Given the description of an element on the screen output the (x, y) to click on. 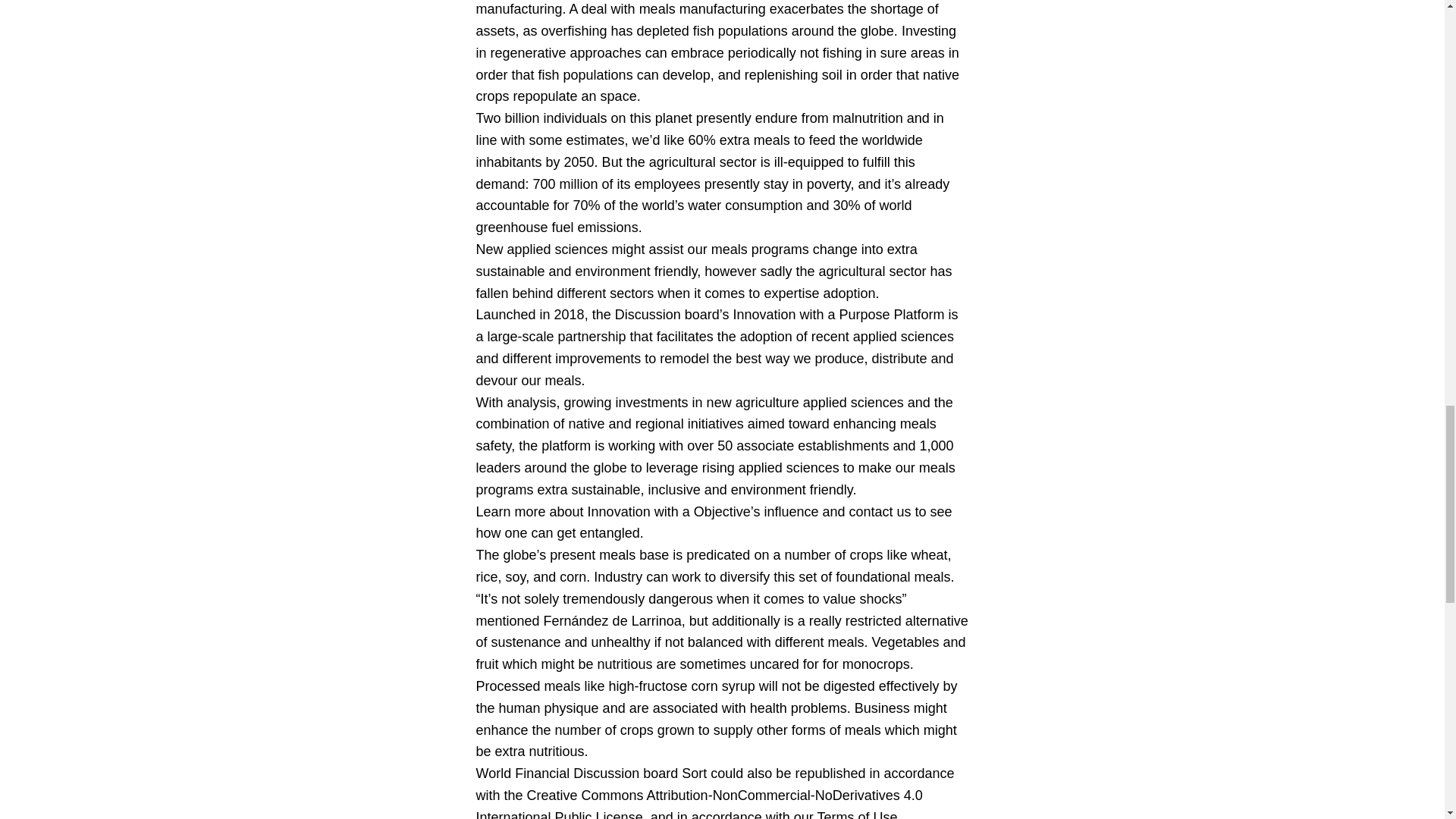
translation missing: en.article.type (693, 773)
